Given the description of an element on the screen output the (x, y) to click on. 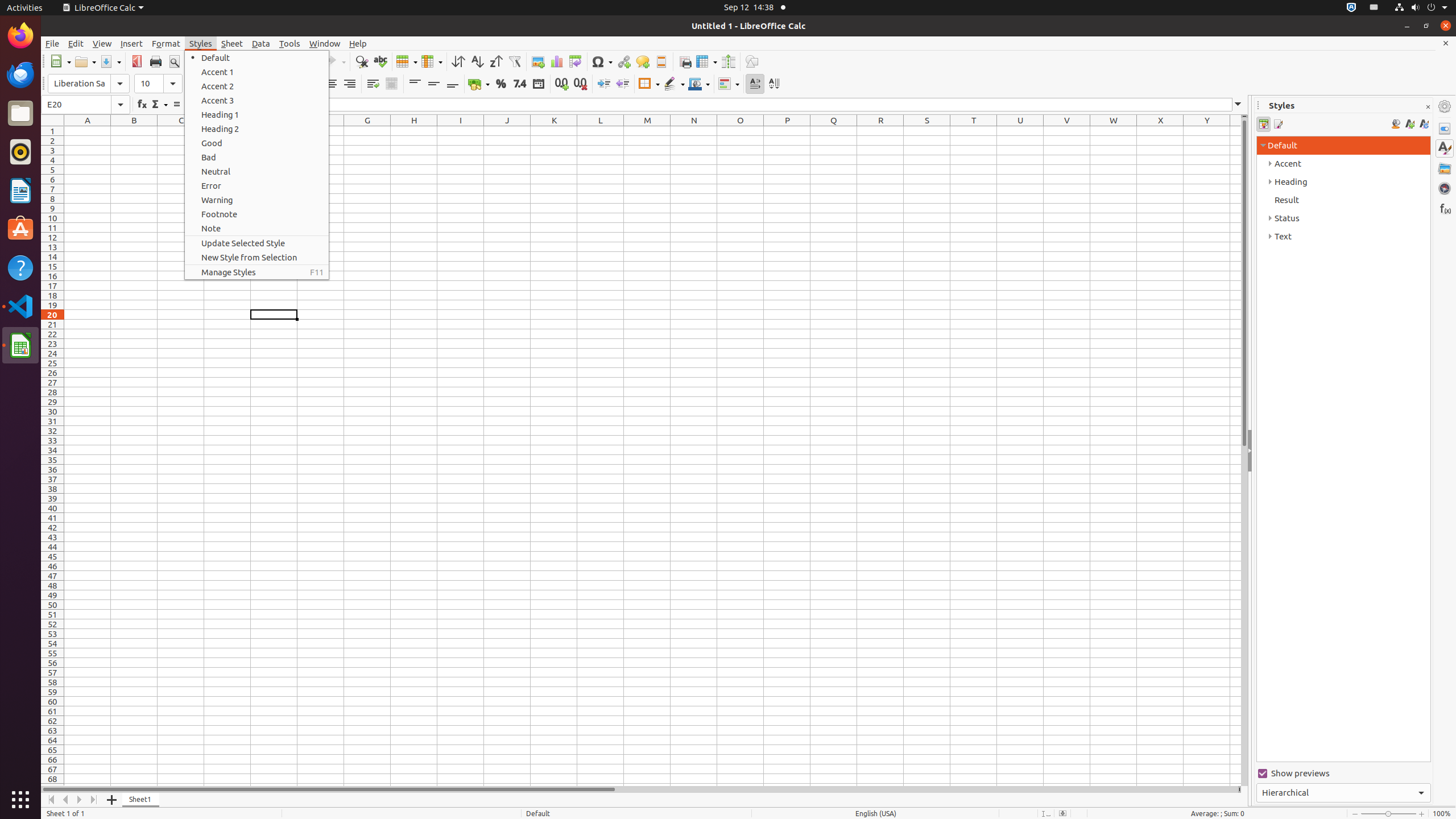
Name Box Element type: combo-box (85, 104)
Text direction from top to bottom Element type: toggle-button (773, 83)
Update Selected Style Element type: menu-item (256, 243)
V1 Element type: table-cell (1066, 130)
LibreOffice Writer Element type: push-button (20, 190)
